Given the description of an element on the screen output the (x, y) to click on. 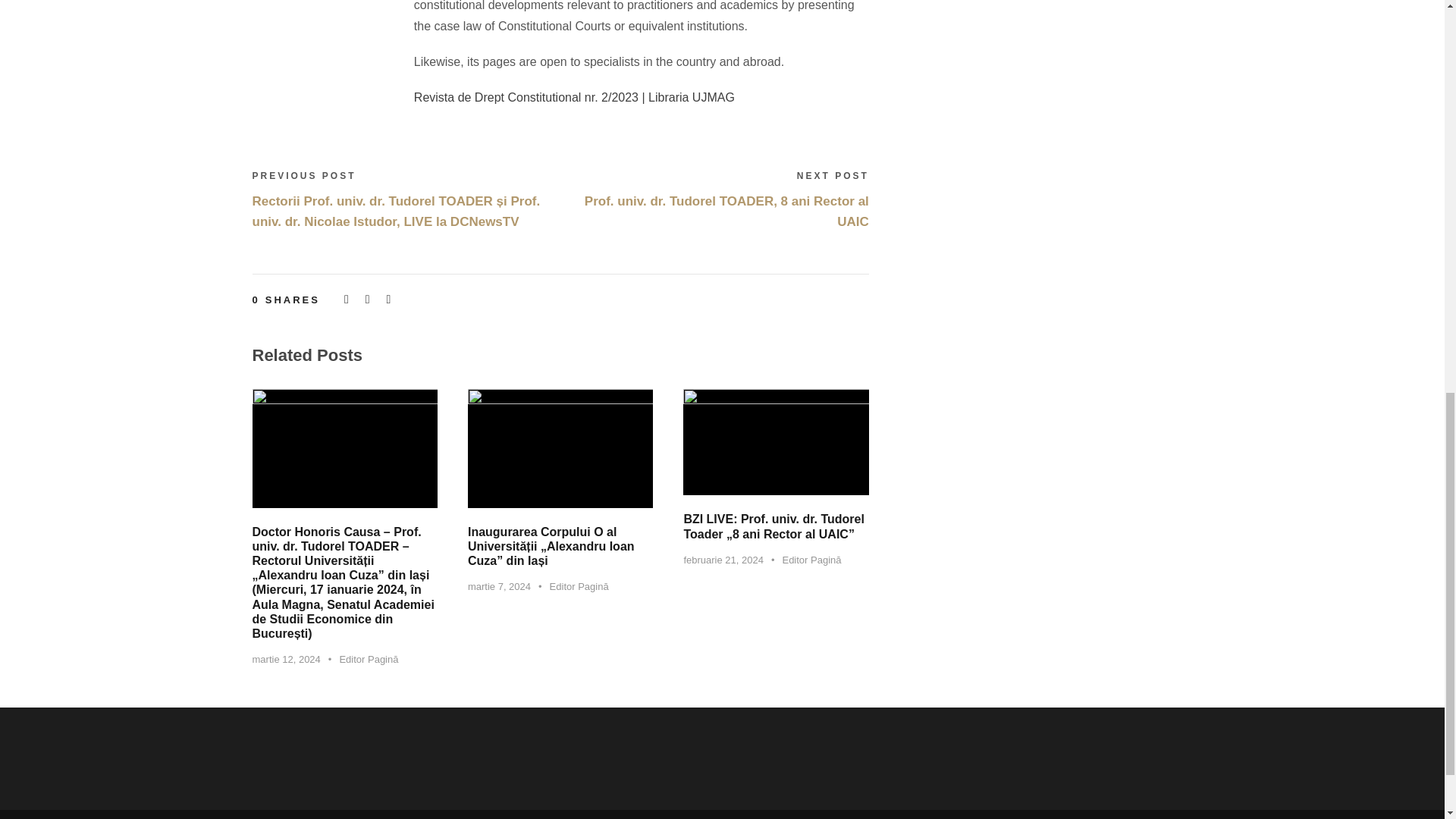
februarie 21, 2024 (722, 559)
martie 12, 2024 (285, 659)
Prof. univ. dr. Tudorel TOADER, 8 ani Rector al UAIC (727, 211)
martie 7, 2024 (499, 586)
